Given the description of an element on the screen output the (x, y) to click on. 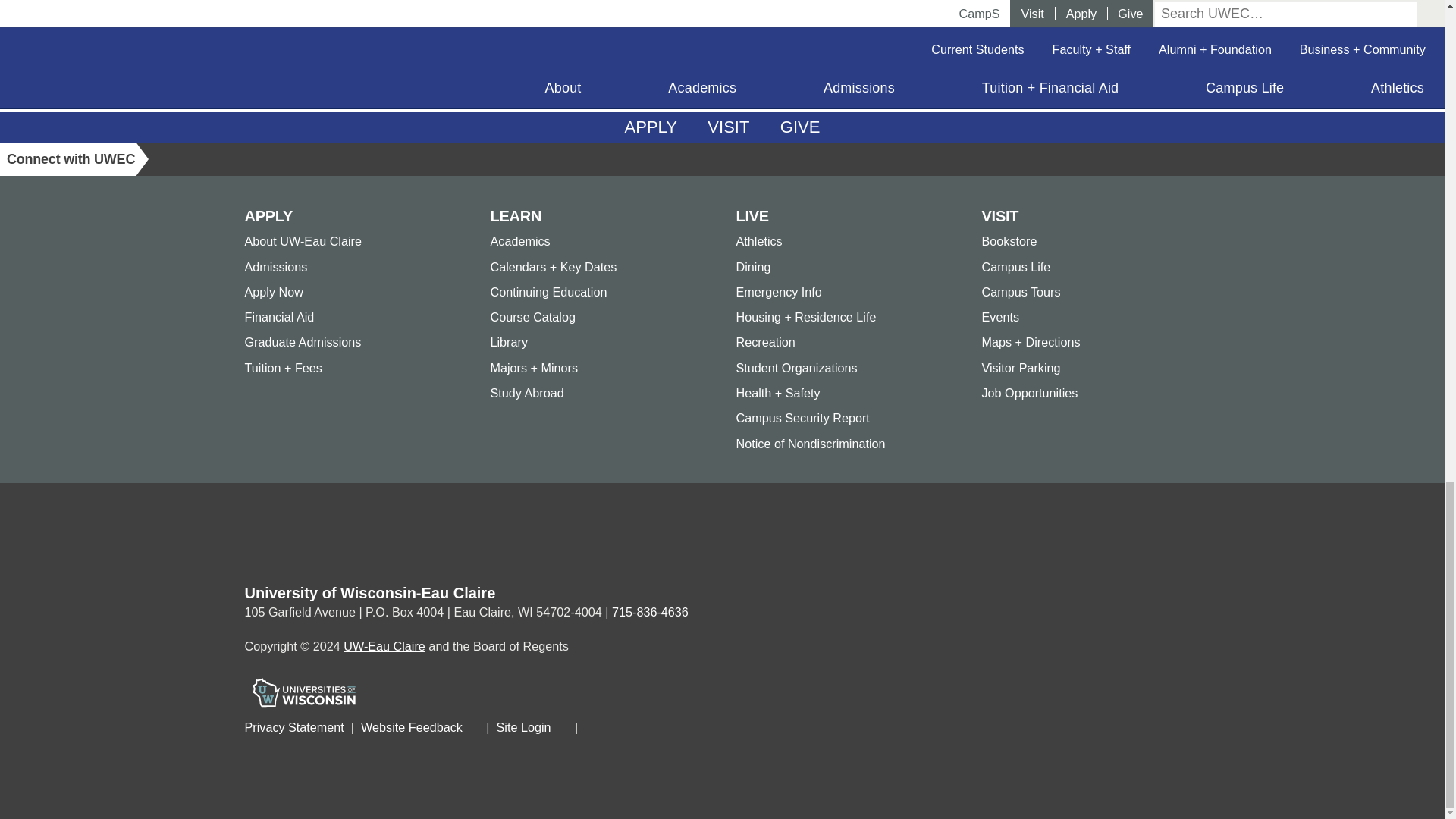
Like us on Facebook (169, 159)
Follow us on TikTok (352, 159)
Plan a Visit (728, 127)
Give Now (800, 127)
Change font for dyslexia (661, 728)
Connect with us on LinkedIn (242, 159)
Follow us on Instagram (278, 159)
Follow us on Twitter (205, 159)
Apply Now (650, 127)
Subscribe to our YouTube channel (389, 159)
Increase text size (630, 728)
Snap with us on Snapchat (316, 159)
